Given the description of an element on the screen output the (x, y) to click on. 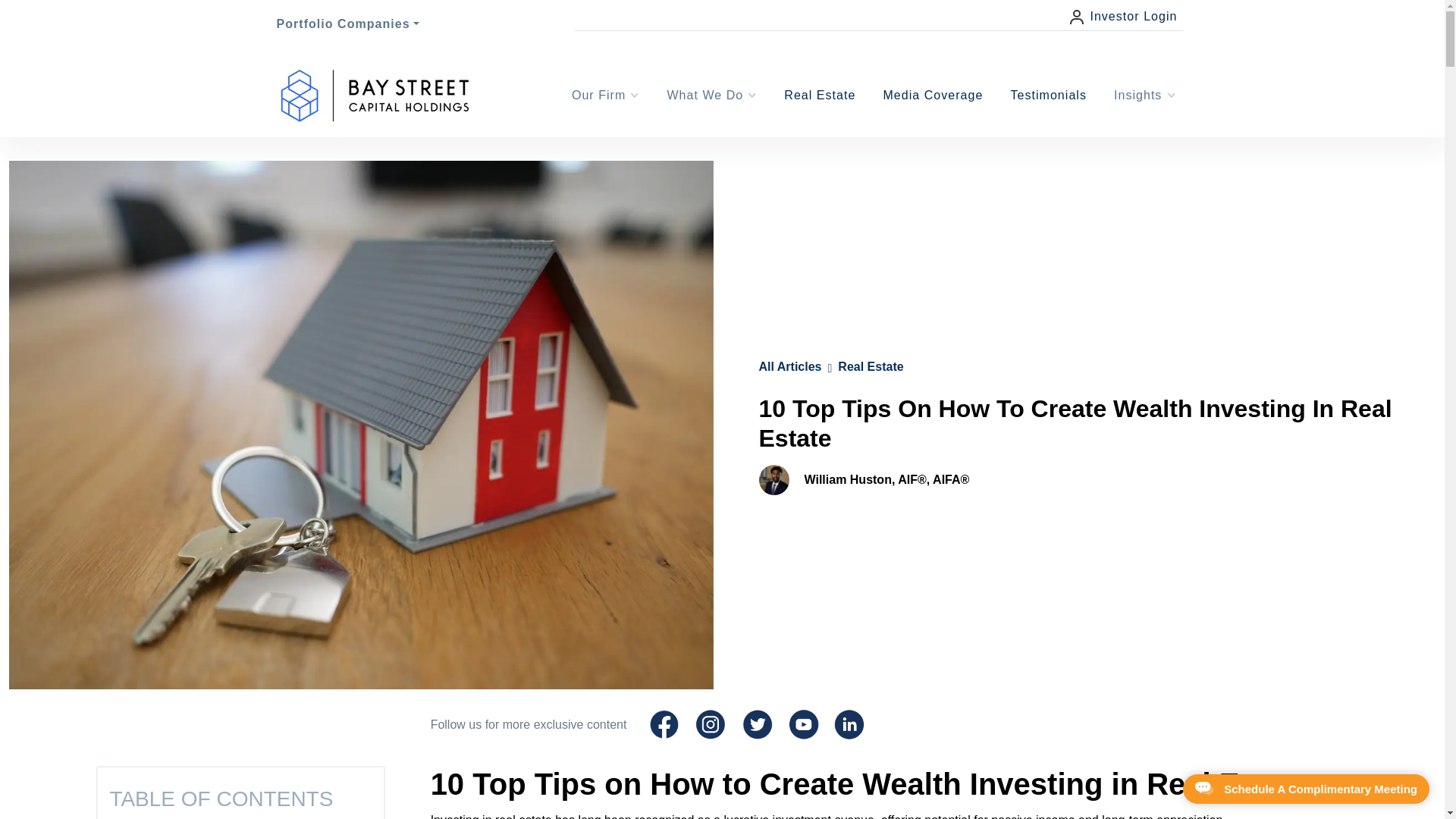
Our Firm (605, 94)
What We Do (711, 94)
Real Estate (819, 94)
Investor Login (1123, 16)
All Articles (789, 366)
Testimonials (1048, 94)
Portfolio Companies (346, 23)
Real Estate (819, 95)
Media Coverage (932, 95)
Insights (1144, 94)
Real Estate (870, 366)
Media Coverage (932, 94)
Testimonials (1048, 95)
